Given the description of an element on the screen output the (x, y) to click on. 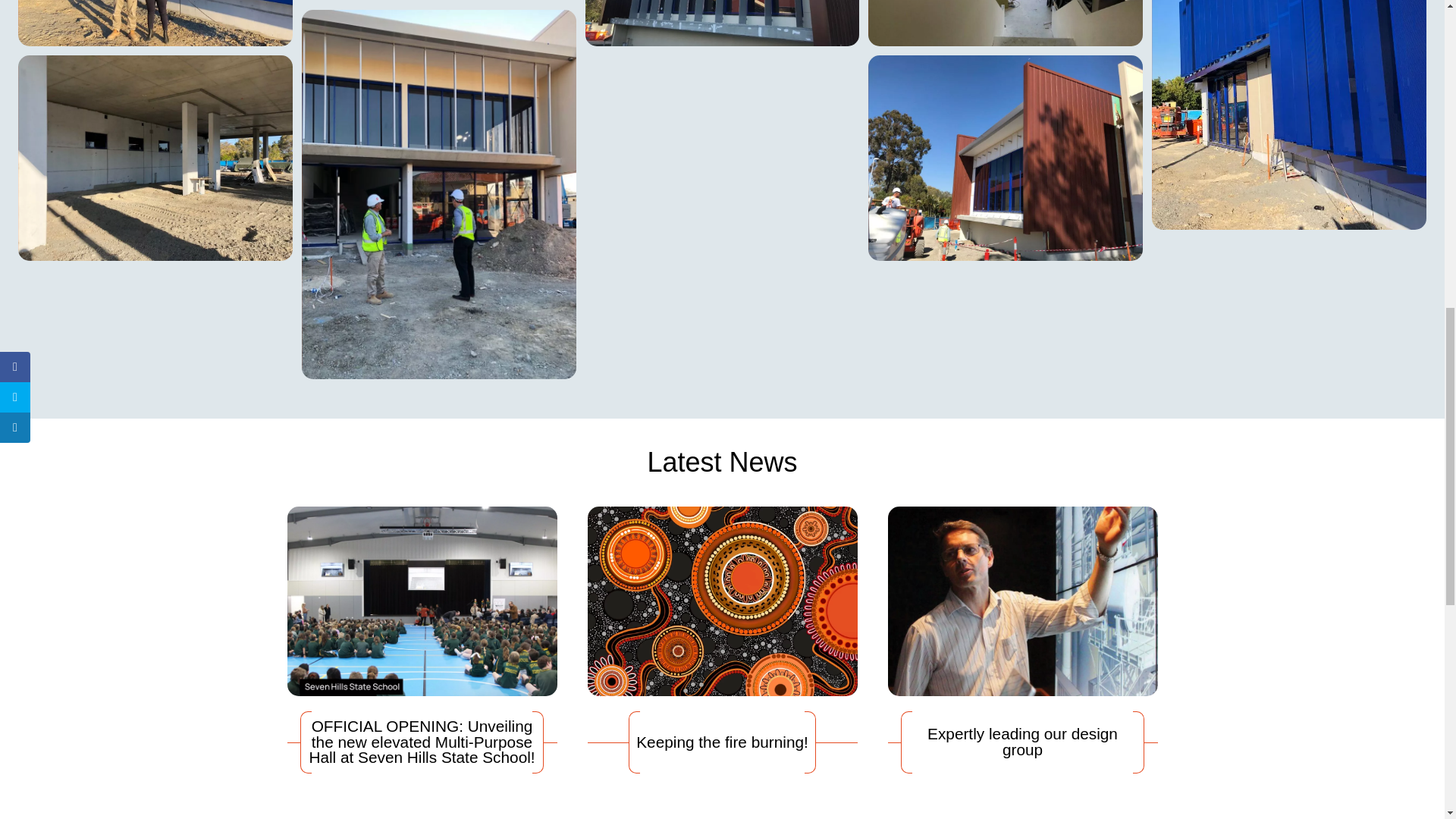
Keeping the fire burning! (721, 639)
Expertly leading our design group (1021, 639)
